Given the description of an element on the screen output the (x, y) to click on. 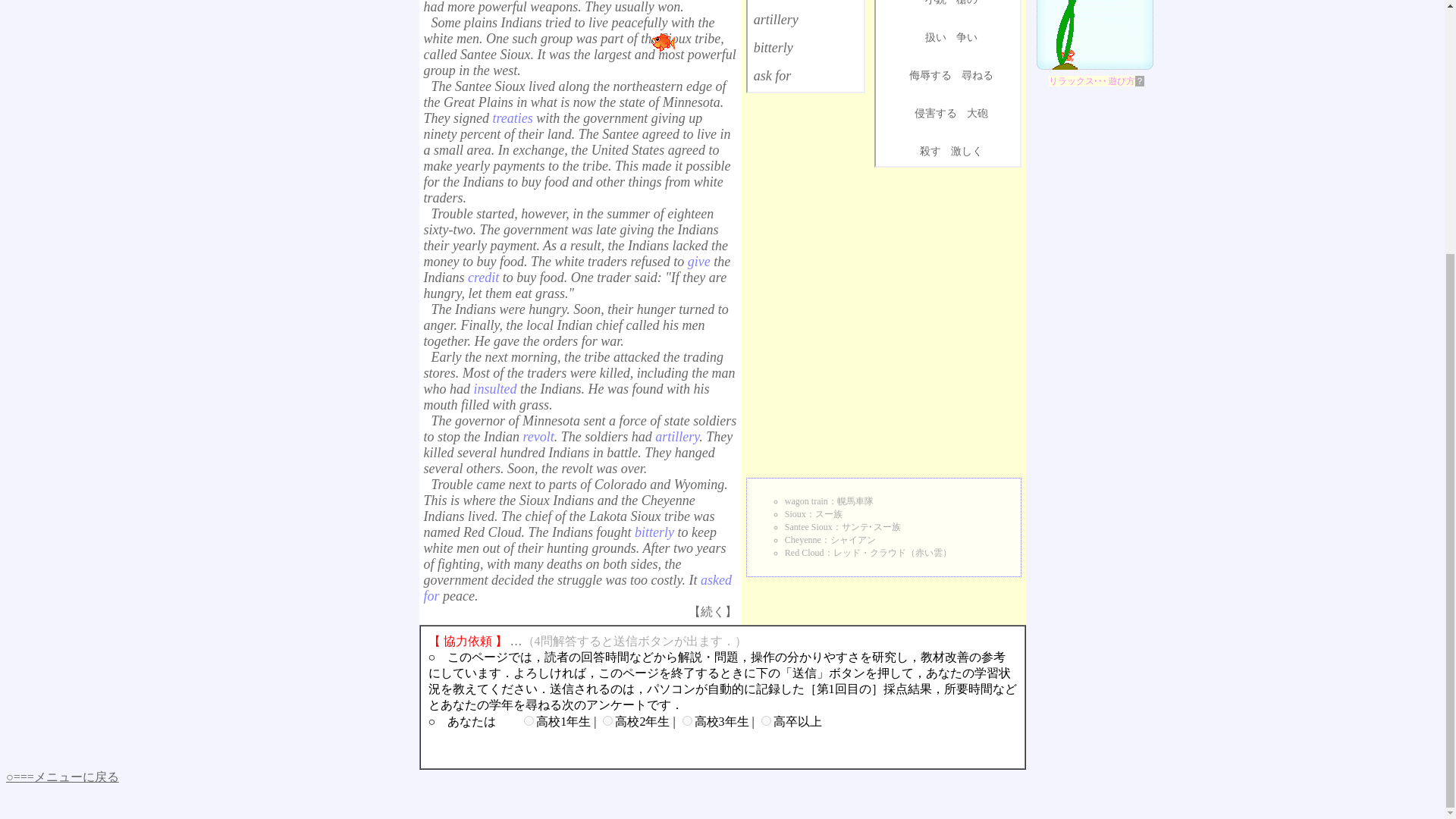
k3 (687, 720)
ob (766, 720)
k2 (607, 720)
Advertisement (947, 214)
bitterly (773, 47)
ask for (773, 75)
k1 (529, 720)
Advertisement (805, 209)
artillery (775, 19)
